Given the description of an element on the screen output the (x, y) to click on. 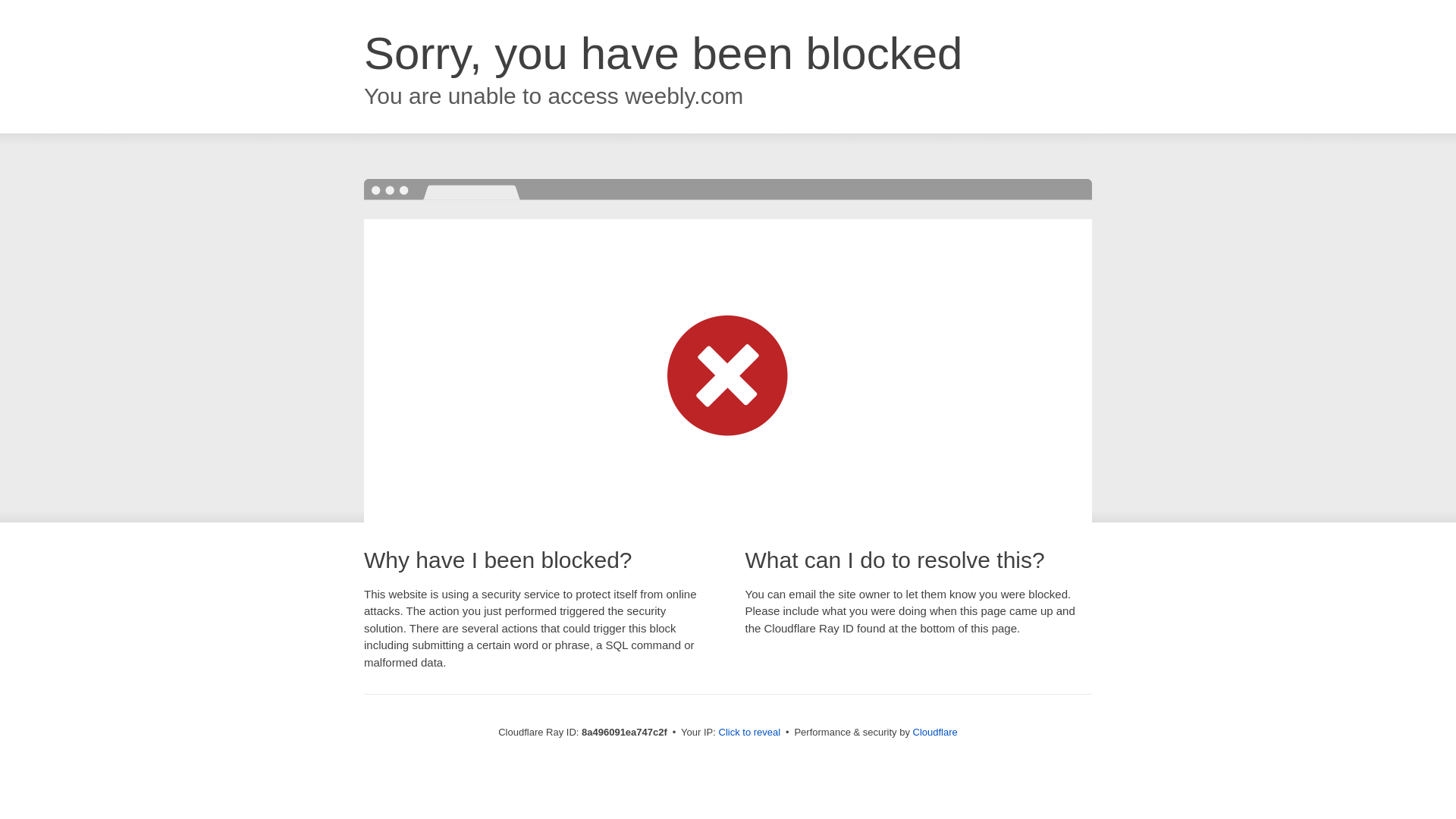
Click to reveal (749, 732)
Cloudflare (935, 731)
